Given the description of an element on the screen output the (x, y) to click on. 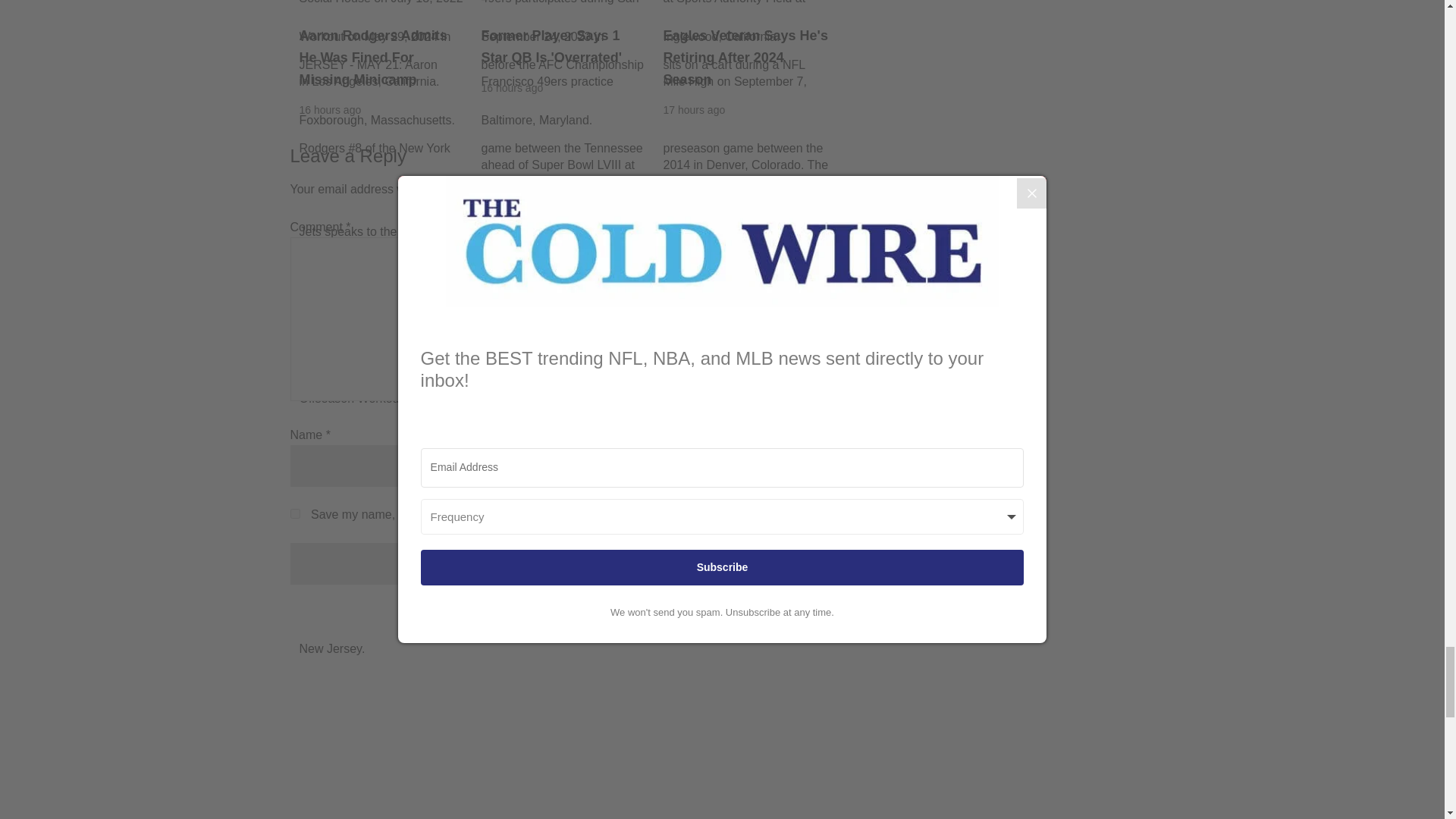
yes (294, 513)
Post Comment (574, 563)
